Given the description of an element on the screen output the (x, y) to click on. 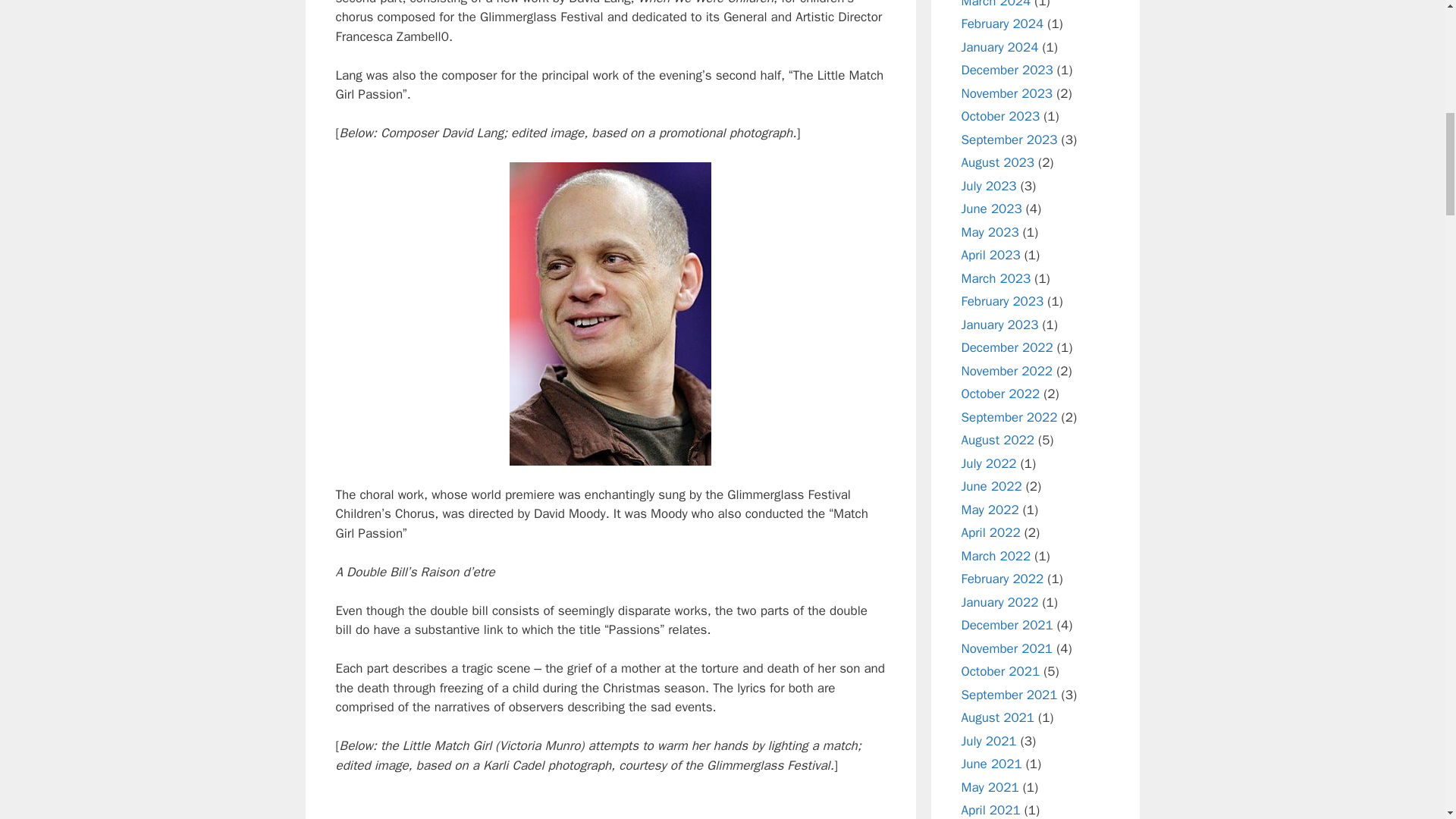
August 2023 (996, 162)
October 2023 (1000, 116)
September 2023 (1009, 139)
December 2023 (1006, 69)
February 2024 (1001, 23)
March 2024 (995, 4)
November 2023 (1006, 92)
January 2024 (999, 47)
